Given the description of an element on the screen output the (x, y) to click on. 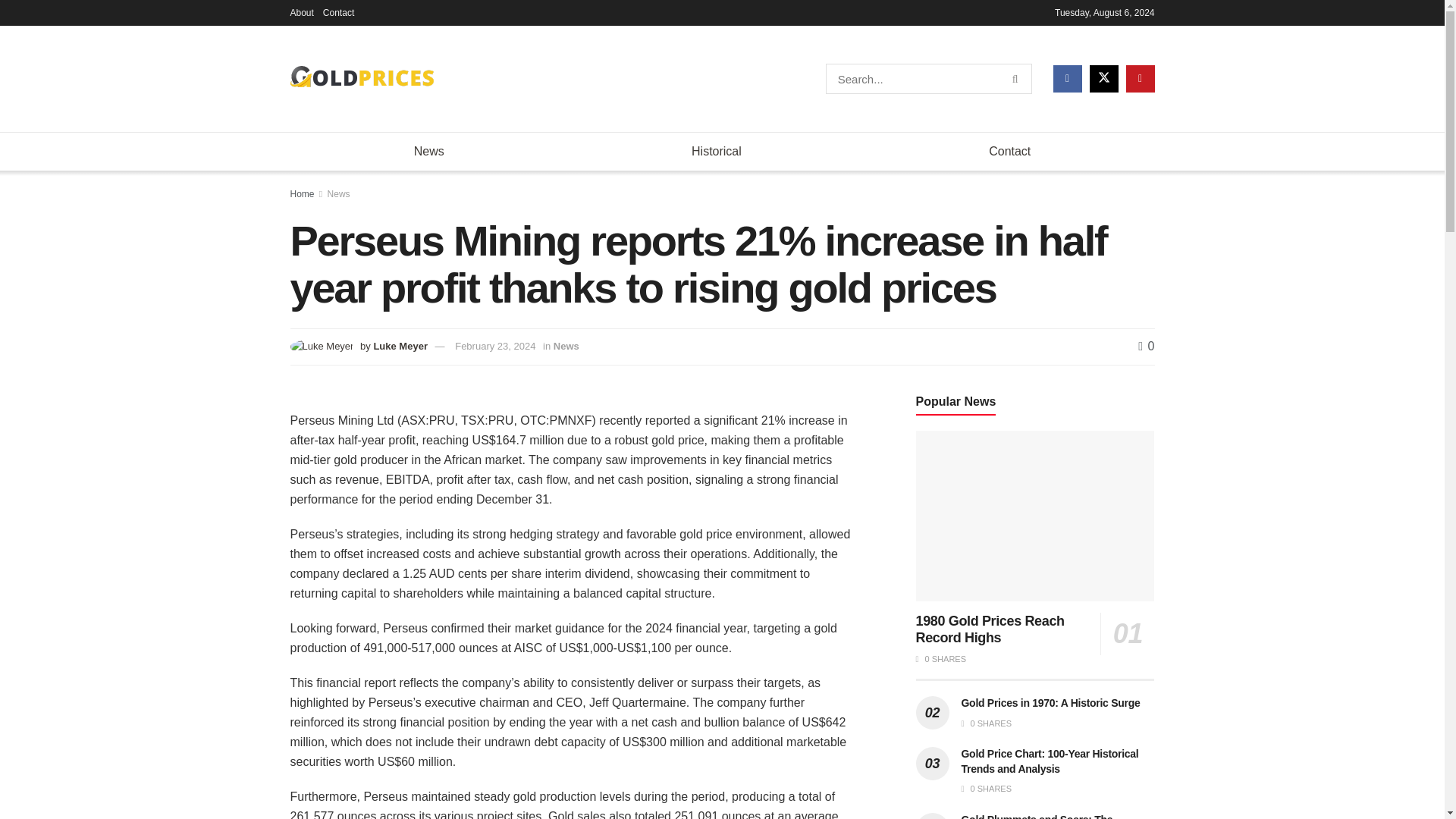
Home (301, 194)
Contact (338, 12)
About (301, 12)
News (338, 194)
News (428, 151)
Historical (715, 151)
News (566, 346)
Luke Meyer (400, 346)
Contact (1009, 151)
0 (1146, 345)
